Given the description of an element on the screen output the (x, y) to click on. 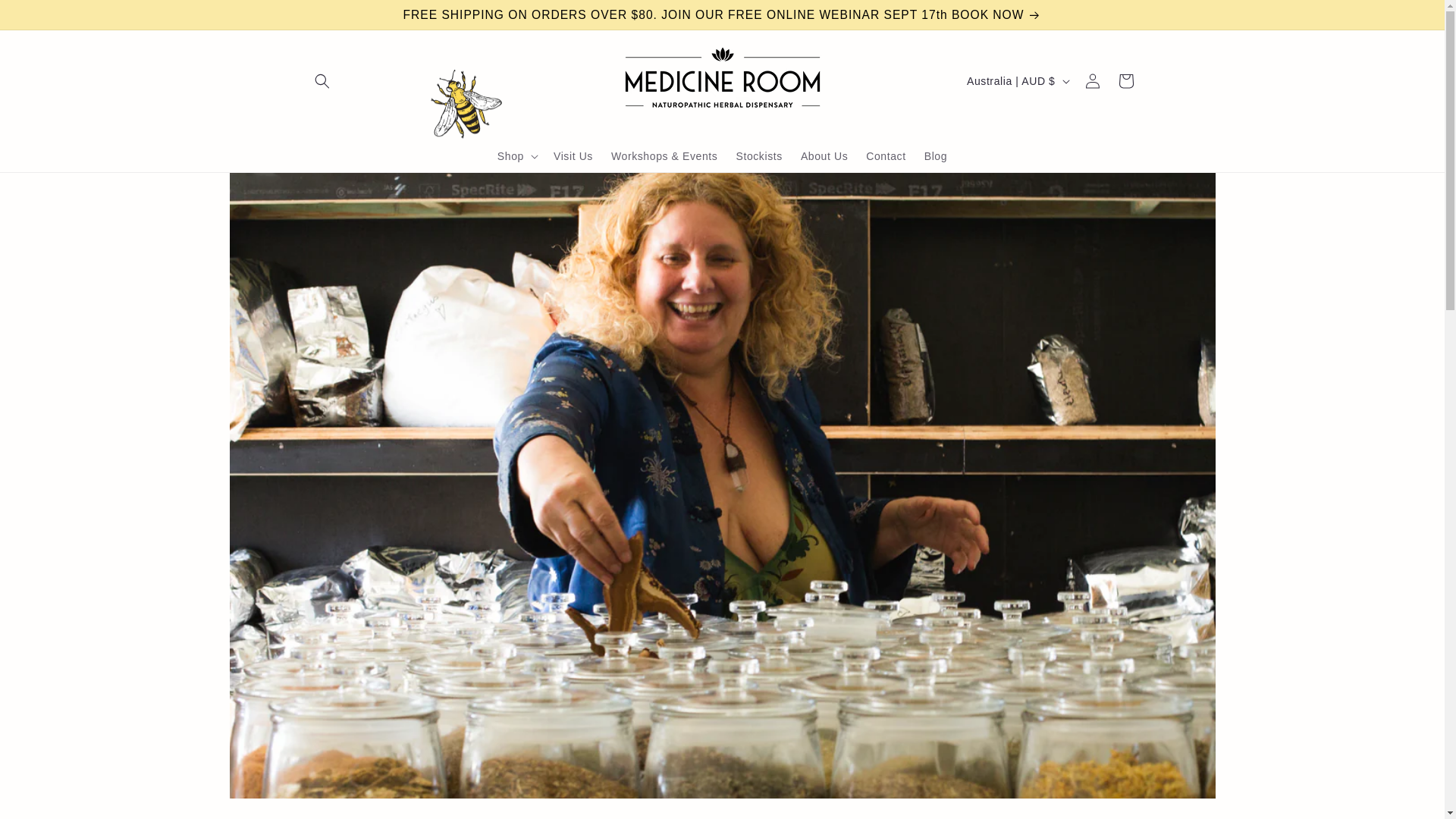
Stockists (758, 155)
Skip to content (45, 17)
Blog (935, 155)
Contact (885, 155)
Visit Us (573, 155)
About Us (824, 155)
